Given the description of an element on the screen output the (x, y) to click on. 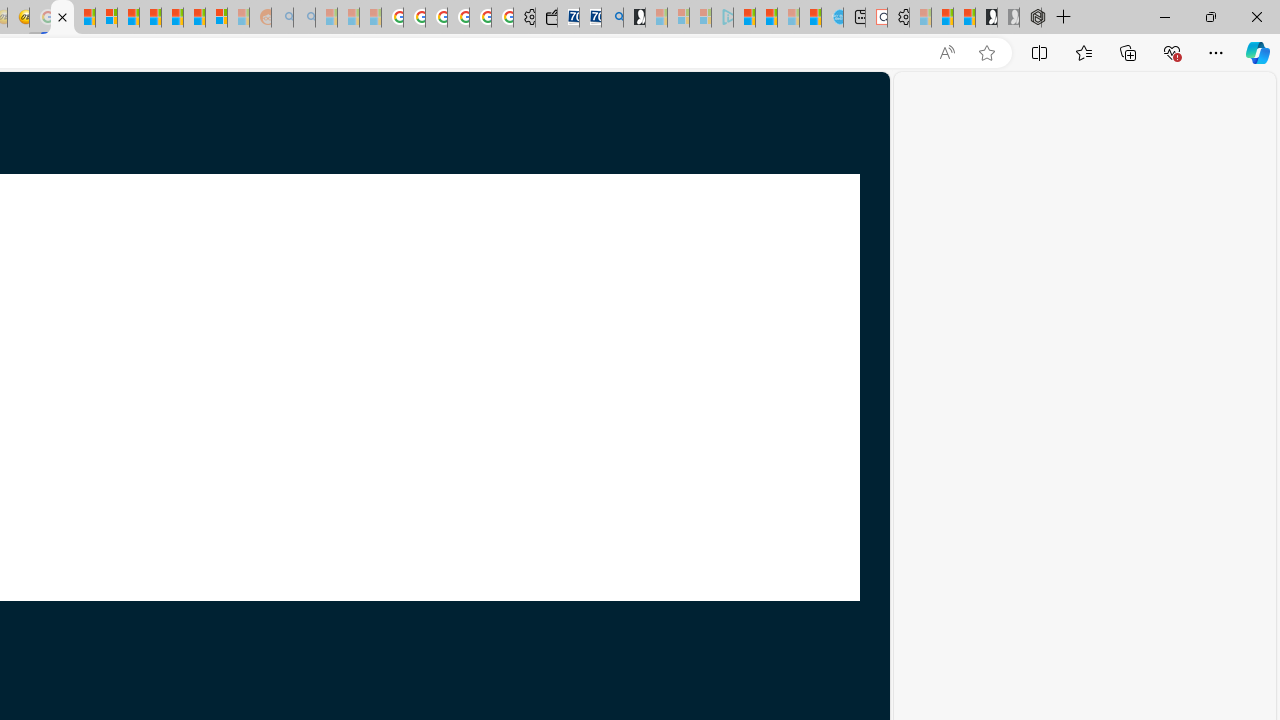
Cheap Car Rentals - Save70.com (590, 17)
Wallet (546, 17)
Utah sues federal government - Search - Sleeping (304, 17)
